Given the description of an element on the screen output the (x, y) to click on. 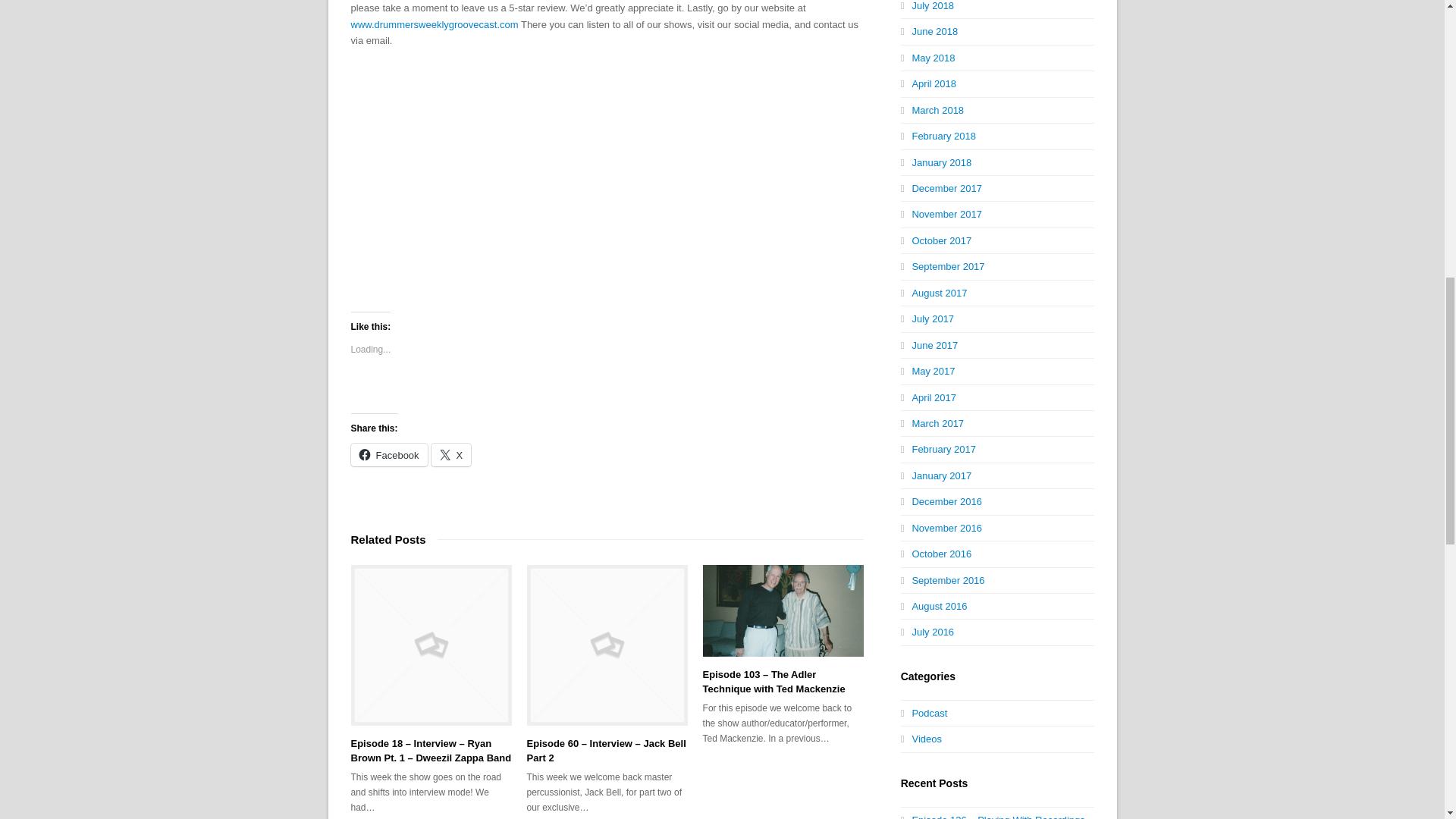
Click to share on Facebook (388, 454)
X (450, 454)
Click to share on X (450, 454)
www.drummersweeklygroovecast.com (434, 24)
Facebook (388, 454)
